Given the description of an element on the screen output the (x, y) to click on. 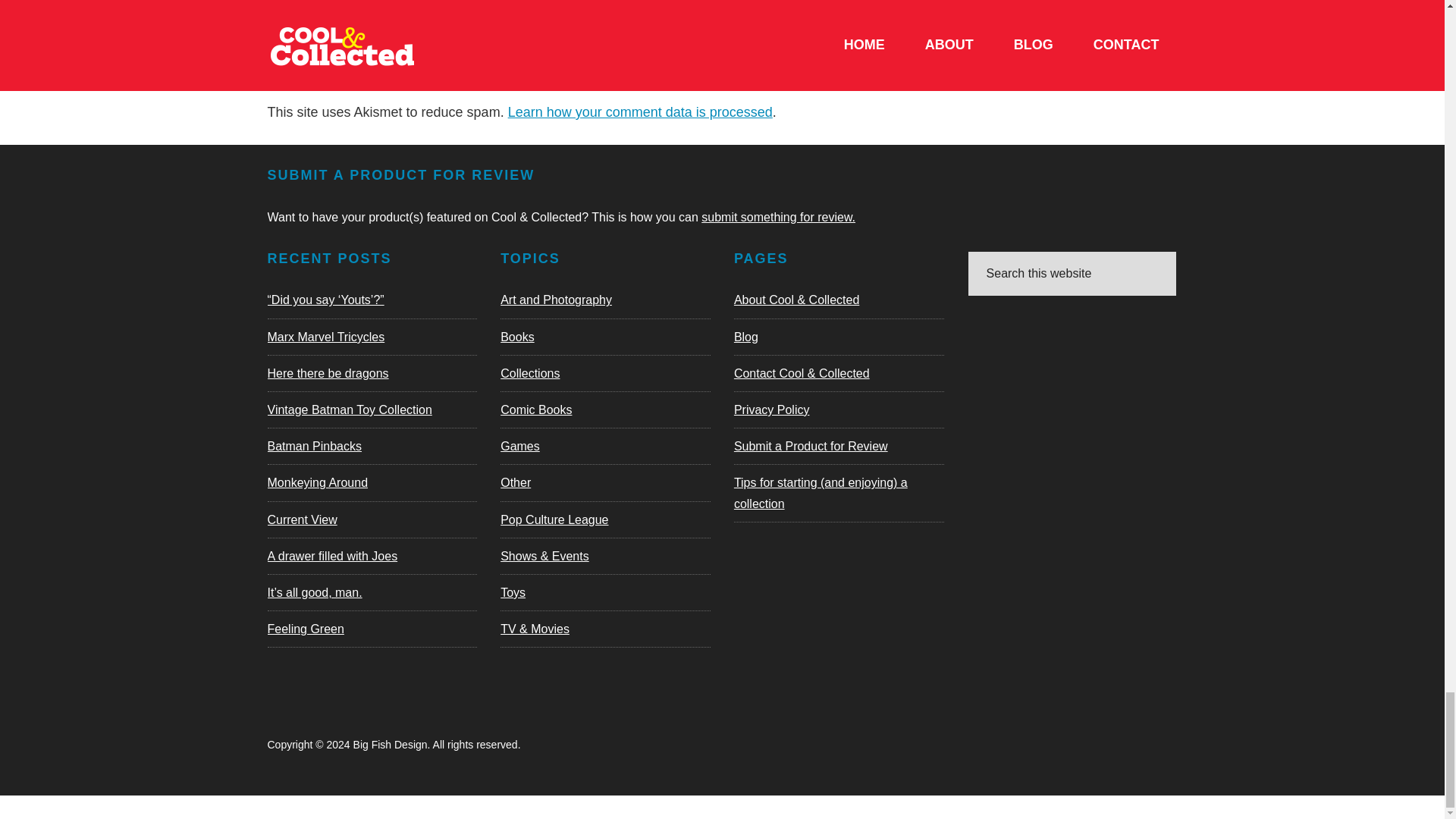
Post Comment (344, 33)
Post Comment (344, 33)
Learn how your comment data is processed (640, 111)
